Given the description of an element on the screen output the (x, y) to click on. 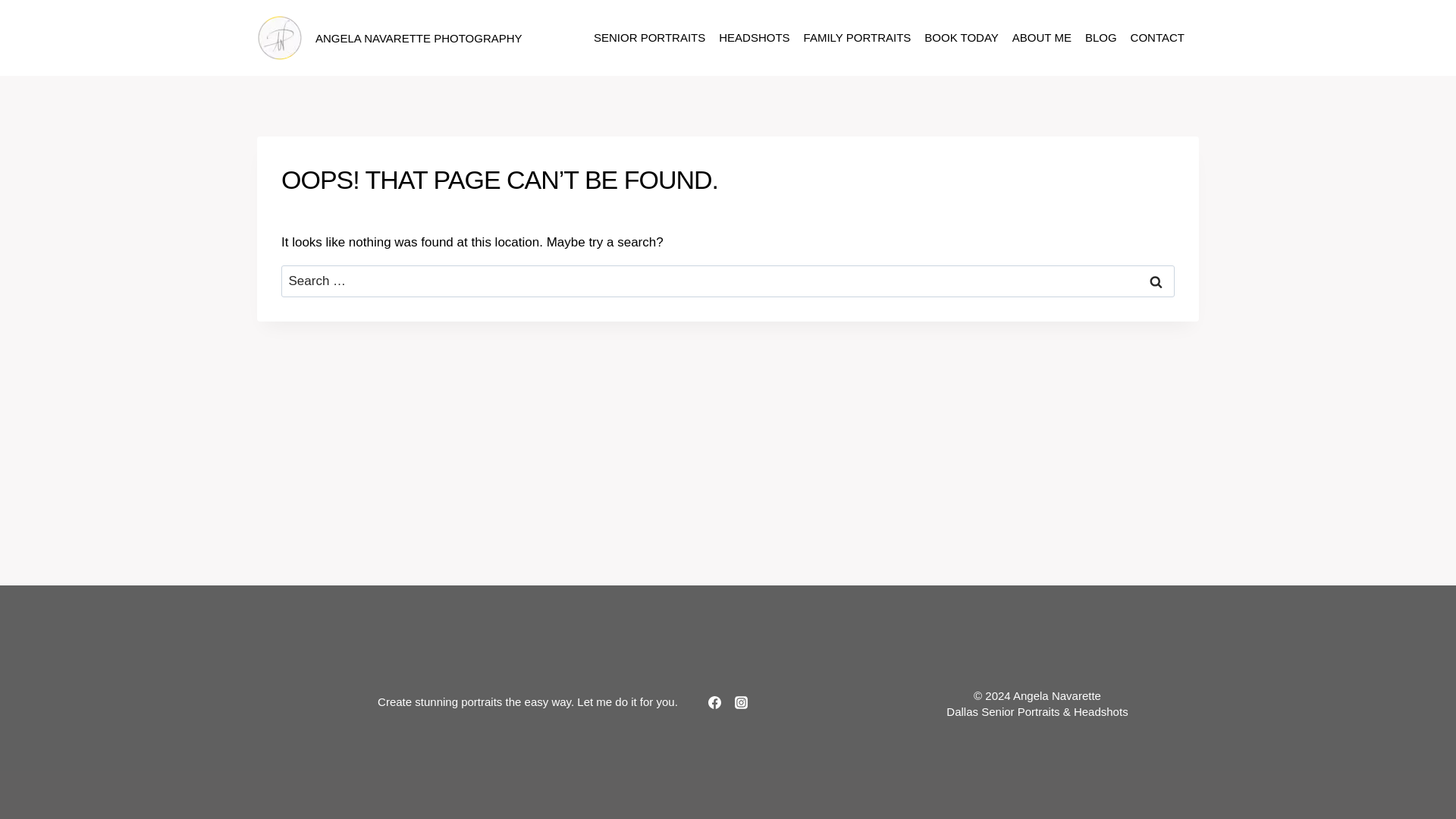
HEADSHOTS (753, 37)
Search (1155, 281)
Search (1155, 281)
FAMILY PORTRAITS (857, 37)
BLOG (1101, 37)
ABOUT ME (1042, 37)
Search (1155, 281)
BOOK TODAY (961, 37)
SENIOR PORTRAITS (648, 37)
CONTACT (1157, 37)
ANGELA NAVARETTE PHOTOGRAPHY (389, 37)
